Given the description of an element on the screen output the (x, y) to click on. 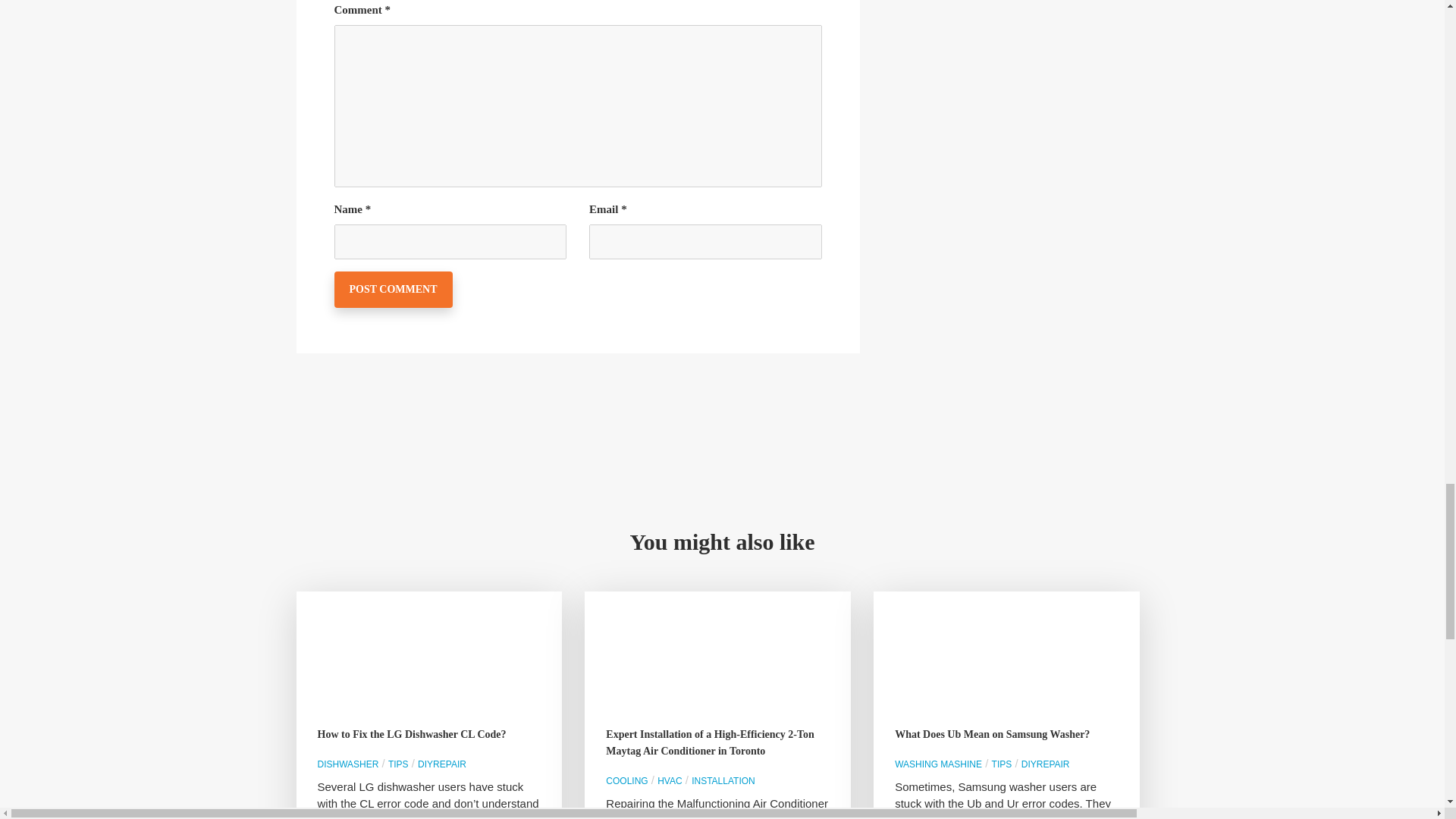
Post Comment (392, 289)
